Given the description of an element on the screen output the (x, y) to click on. 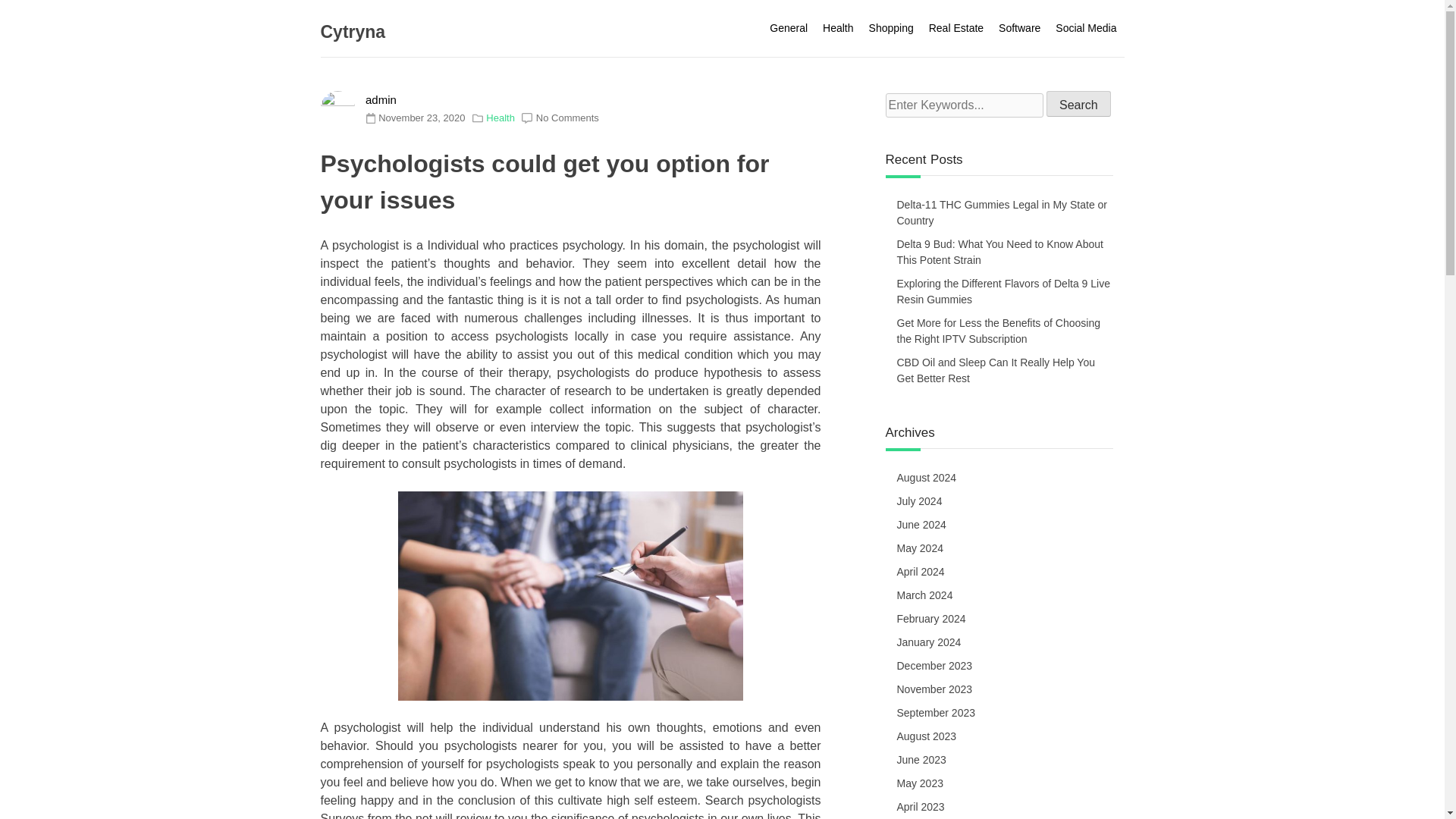
June 2023 (921, 760)
Delta 9 Bud: What You Need to Know About This Potent Strain (999, 252)
August 2023 (927, 736)
December 2023 (935, 666)
April 2024 (920, 572)
Health (500, 117)
May 2024 (919, 548)
May 2023 (919, 784)
Social Media (1086, 28)
